Given the description of an element on the screen output the (x, y) to click on. 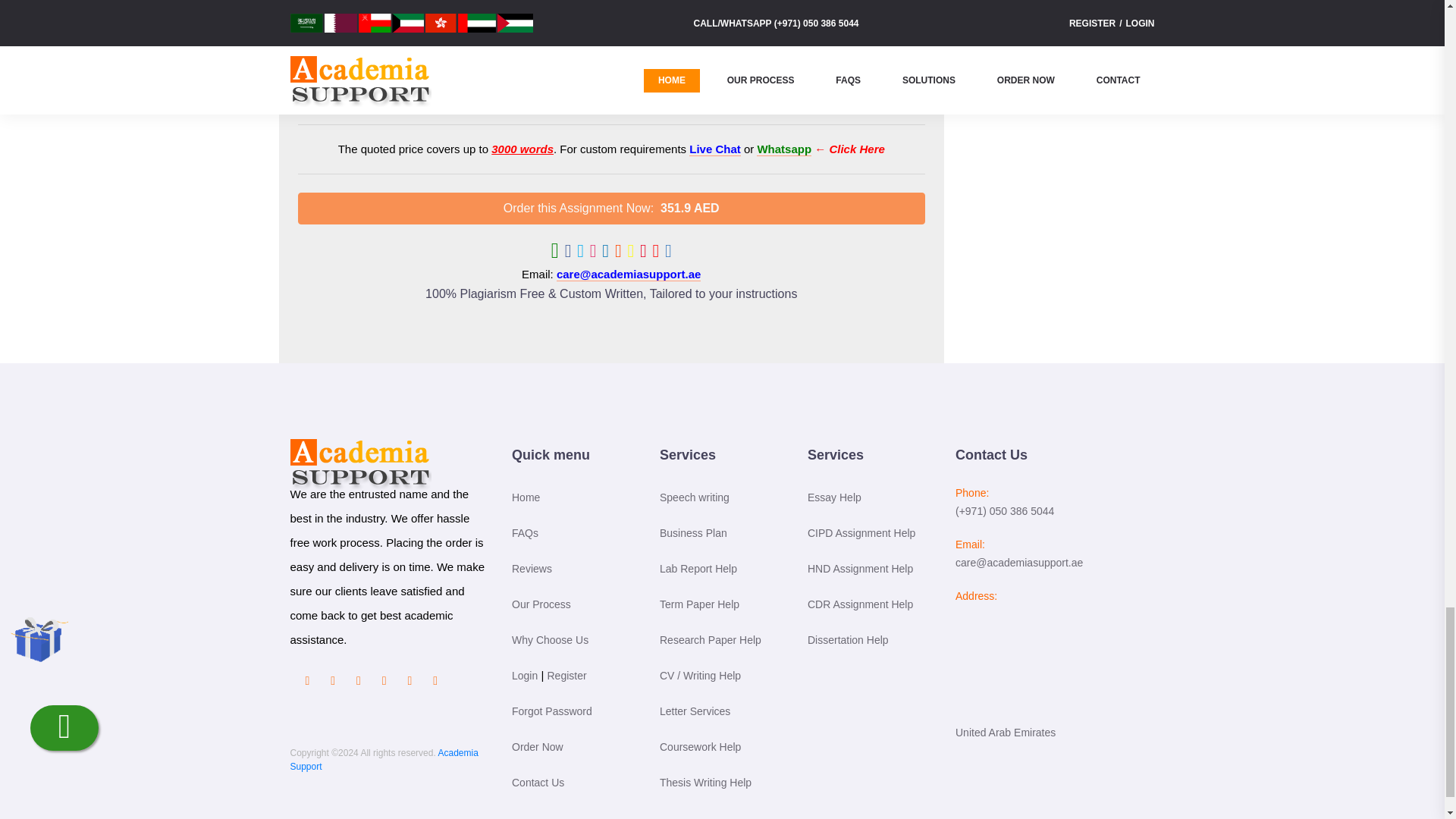
Whatsapp (783, 149)
Live Chat (714, 149)
